Given the description of an element on the screen output the (x, y) to click on. 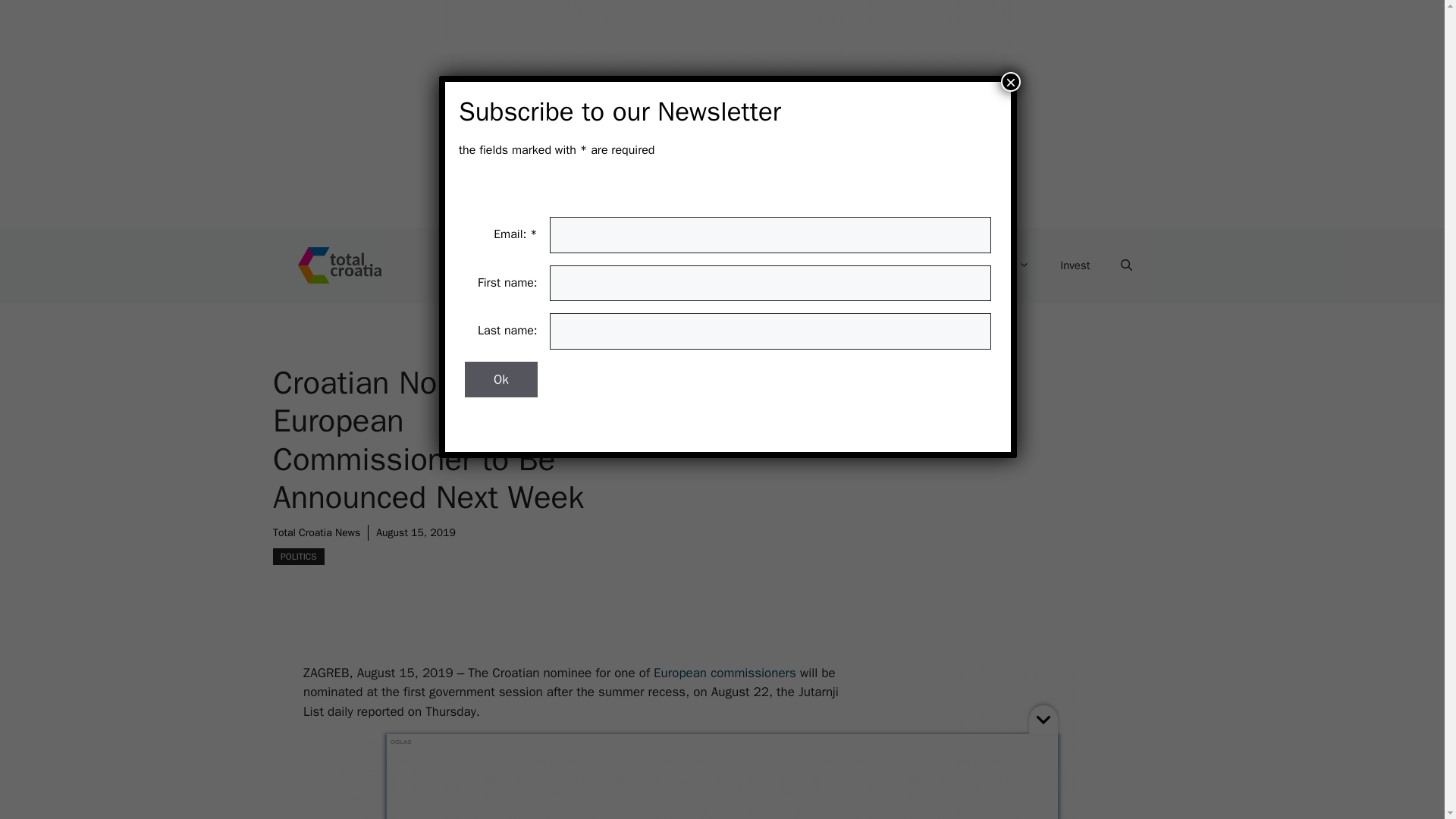
3rd party ad content (727, 113)
Diaspora (998, 265)
Real estate (824, 265)
Destinations (517, 265)
3rd party ad content (727, 785)
Wine (914, 265)
Invest (1075, 265)
News (733, 265)
3rd party ad content (587, 780)
Ok (500, 379)
How to Guides (634, 265)
